Given the description of an element on the screen output the (x, y) to click on. 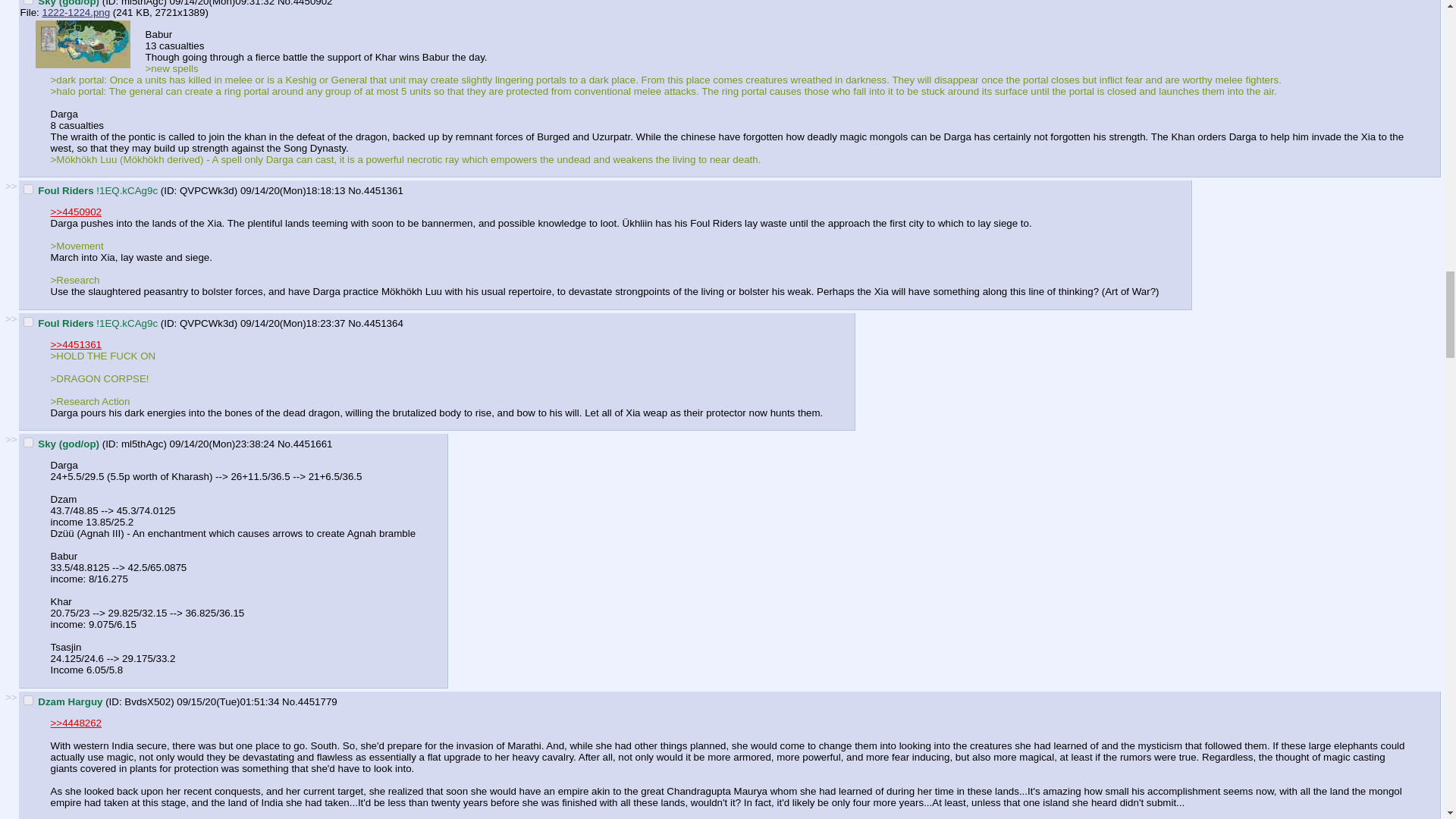
delete (28, 700)
delete (28, 321)
delete (28, 189)
delete (28, 2)
delete (28, 442)
